Given the description of an element on the screen output the (x, y) to click on. 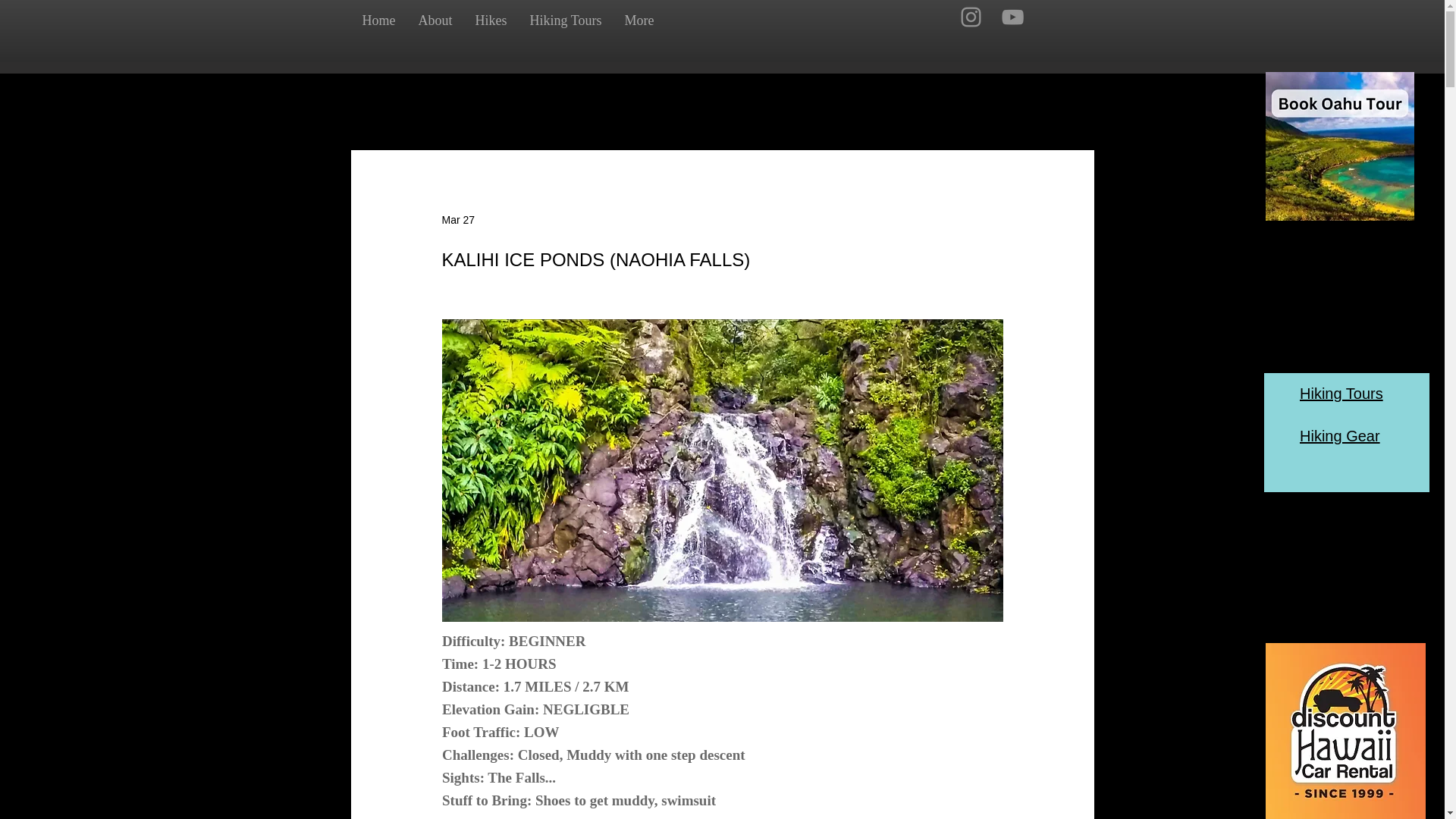
Oahu Tour Feature.jpg (1339, 146)
Hiking Tours (565, 20)
Home (378, 20)
Hiking Gear (1340, 435)
About (434, 20)
Hiking Tours (1341, 393)
Hikes (491, 20)
Mar 27 (457, 219)
